Given the description of an element on the screen output the (x, y) to click on. 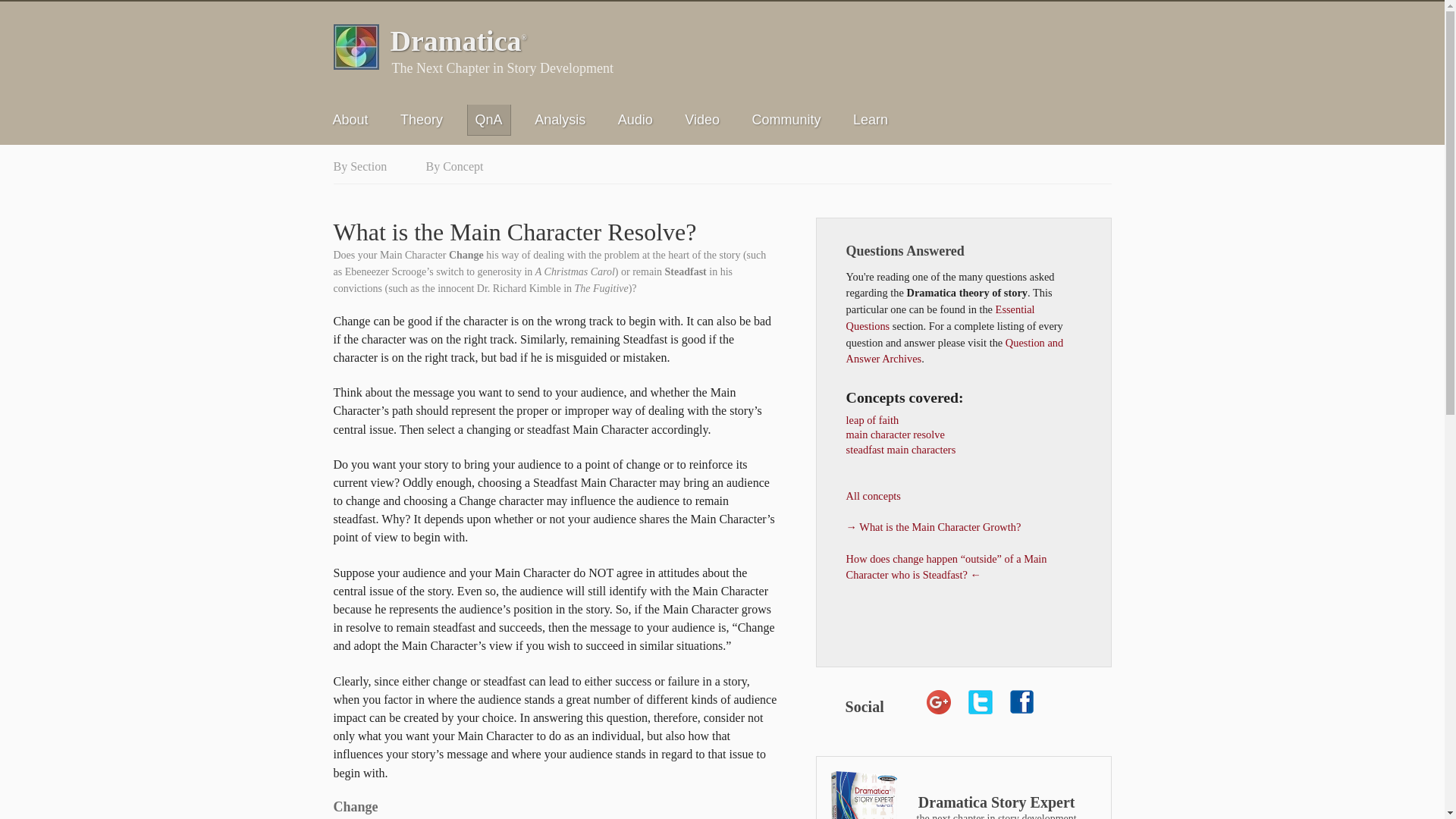
Video (701, 119)
main character resolve (894, 434)
Community (786, 119)
leap of faith (872, 419)
About (349, 119)
By Concept (454, 165)
QnA (489, 119)
Essential Questions (940, 317)
By Section (360, 165)
All concepts (873, 495)
steadfast main characters (900, 449)
Theory (421, 119)
Question and Answer Archives (954, 350)
Audio (634, 119)
Analysis (559, 119)
